Given the description of an element on the screen output the (x, y) to click on. 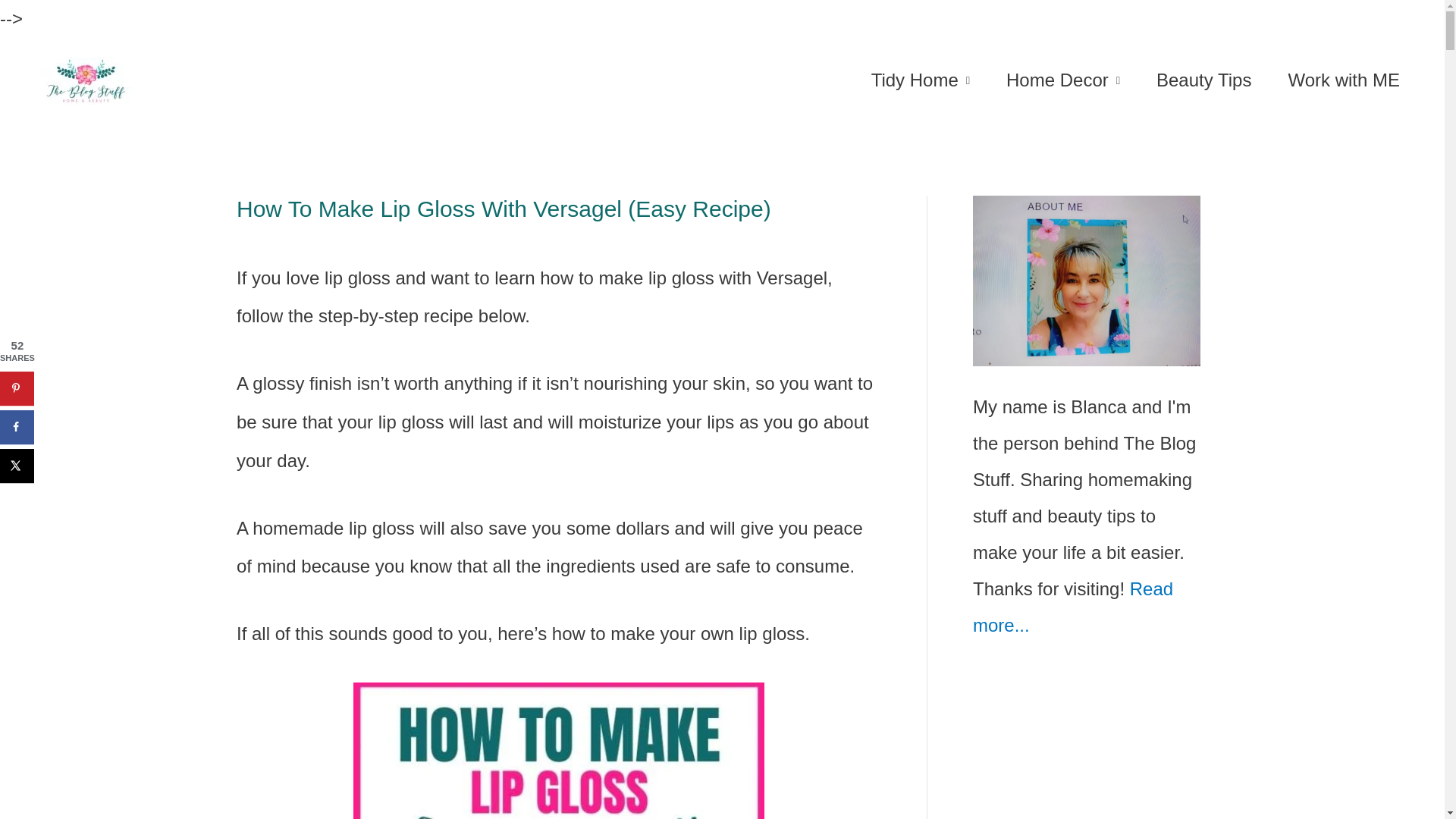
Tidy Home (920, 80)
Share on Facebook (16, 427)
Save to Pinterest (16, 388)
Work with ME (1343, 80)
Home Decor (1063, 80)
Share on X (16, 465)
Beauty Tips (1203, 80)
